Given the description of an element on the screen output the (x, y) to click on. 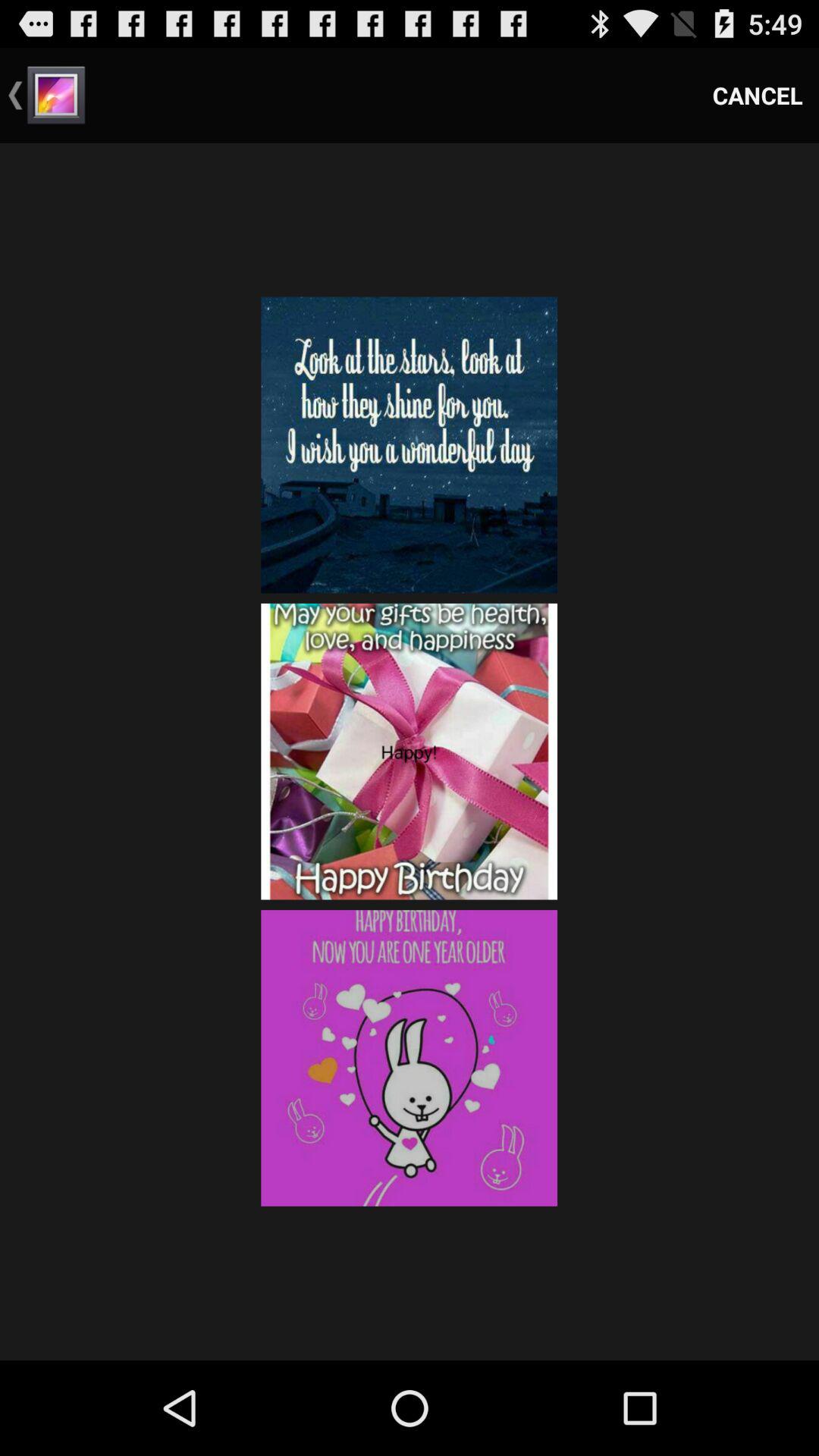
jump to the cancel icon (757, 95)
